Given the description of an element on the screen output the (x, y) to click on. 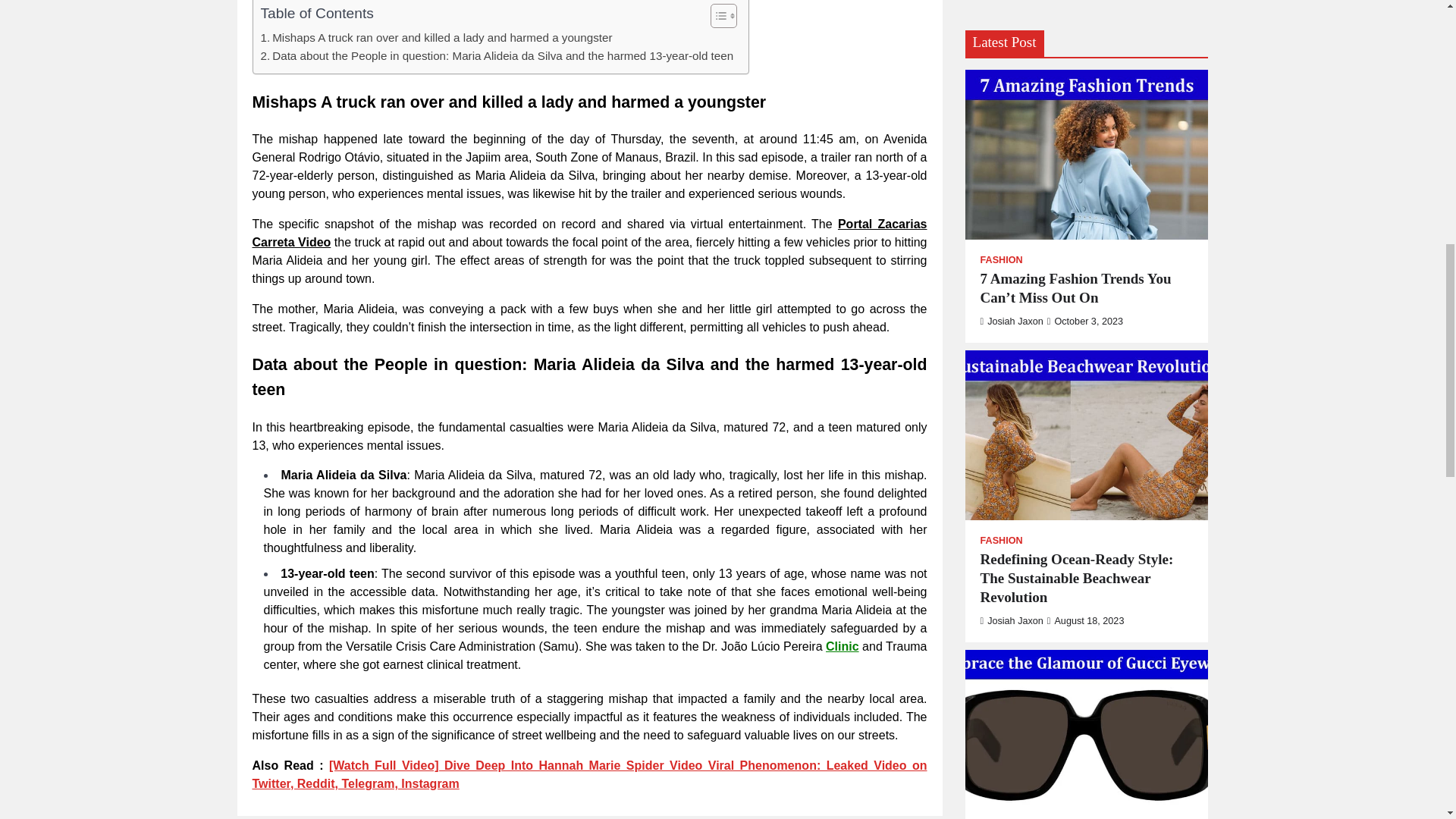
Clinic (842, 645)
